Given the description of an element on the screen output the (x, y) to click on. 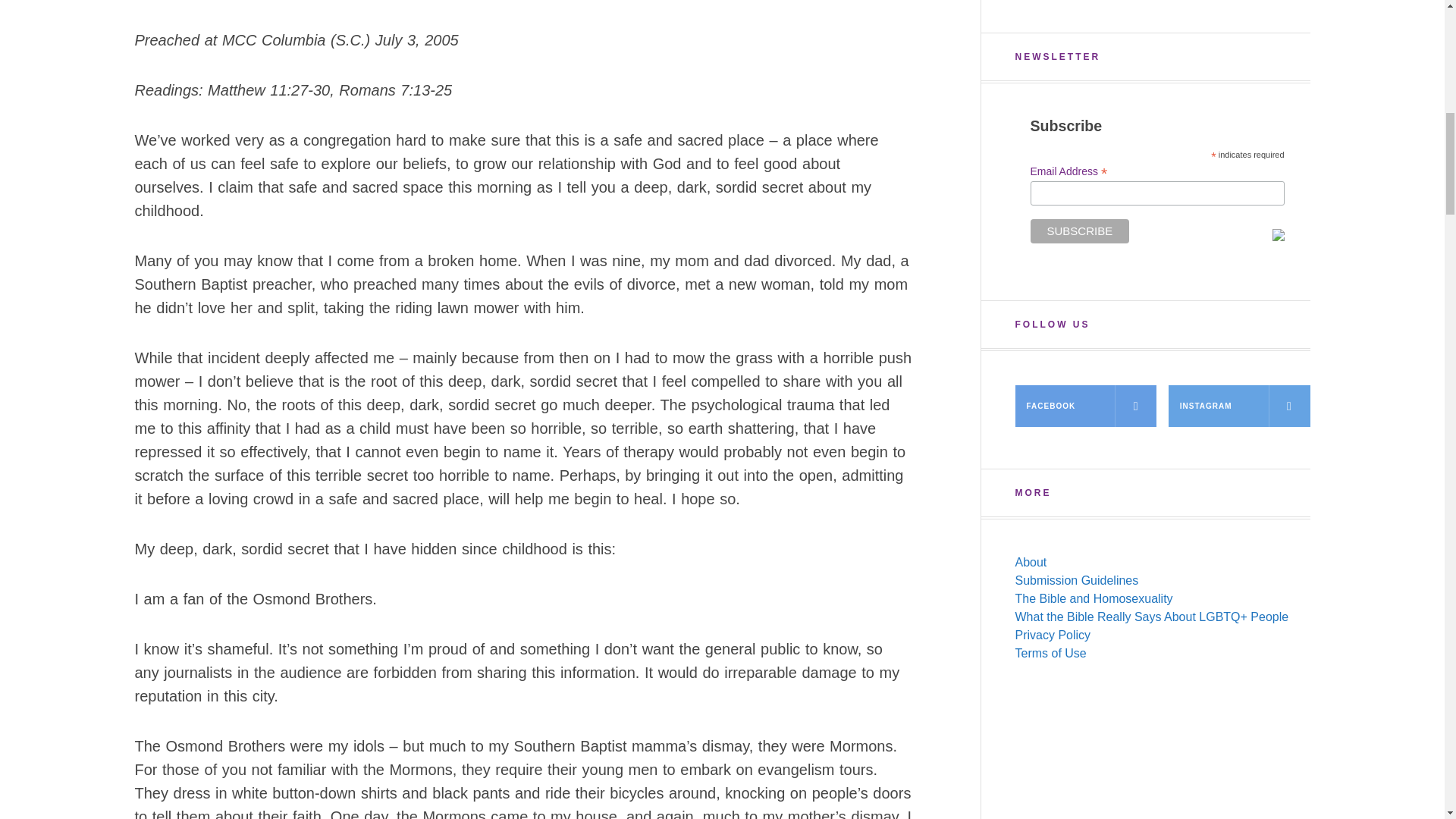
About (1030, 562)
About (1030, 562)
Subscribe (1079, 231)
INSTAGRAM (1239, 405)
Privacy Policy (1052, 634)
The Bible and Homosexuality (1093, 598)
The Bible and Homosexuality (1093, 598)
Submission Guidelines (1076, 580)
Submission Guidelines (1076, 580)
Terms of Use (1050, 653)
FACEBOOK (1085, 405)
Subscribe (1079, 231)
Privacy Policy (1052, 634)
Mailchimp - email marketing made easy and fun (1278, 234)
